Given the description of an element on the screen output the (x, y) to click on. 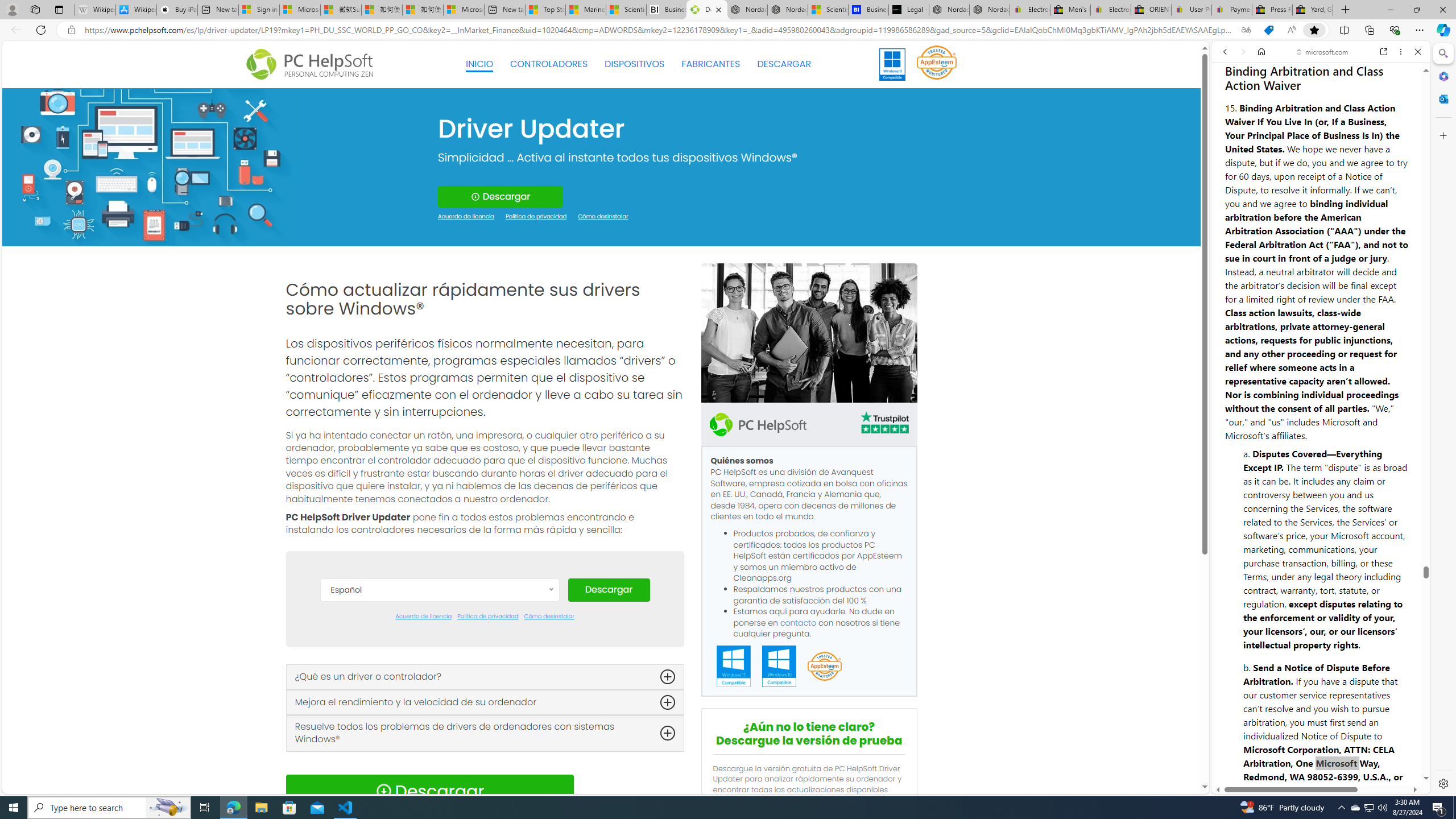
Windows 11 (892, 64)
Minimize Search pane (1442, 53)
Descargar (608, 589)
Microsoft account | Account Checkup (463, 9)
